Given the description of an element on the screen output the (x, y) to click on. 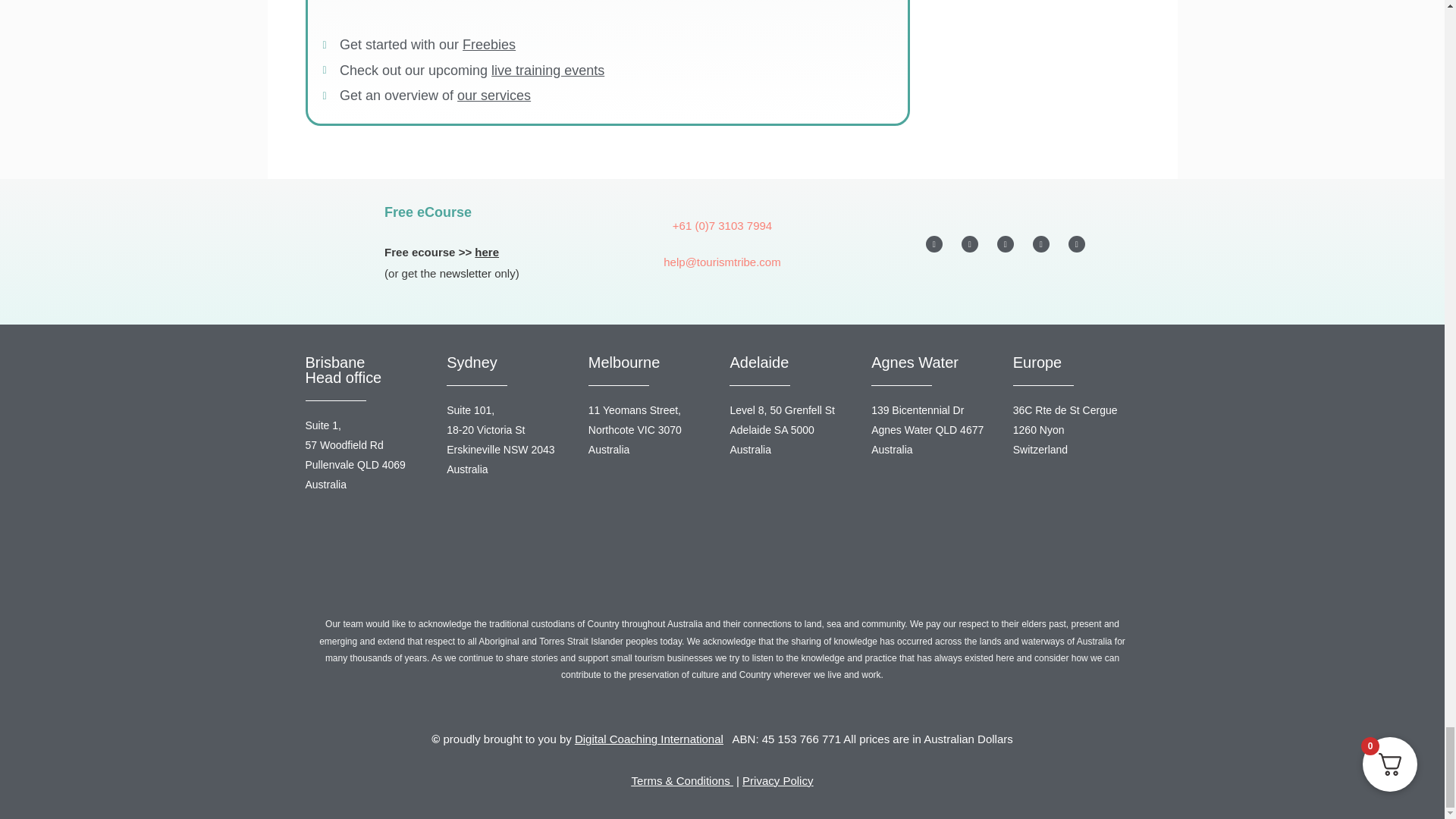
aboriginal-flag (722, 585)
